Given the description of an element on the screen output the (x, y) to click on. 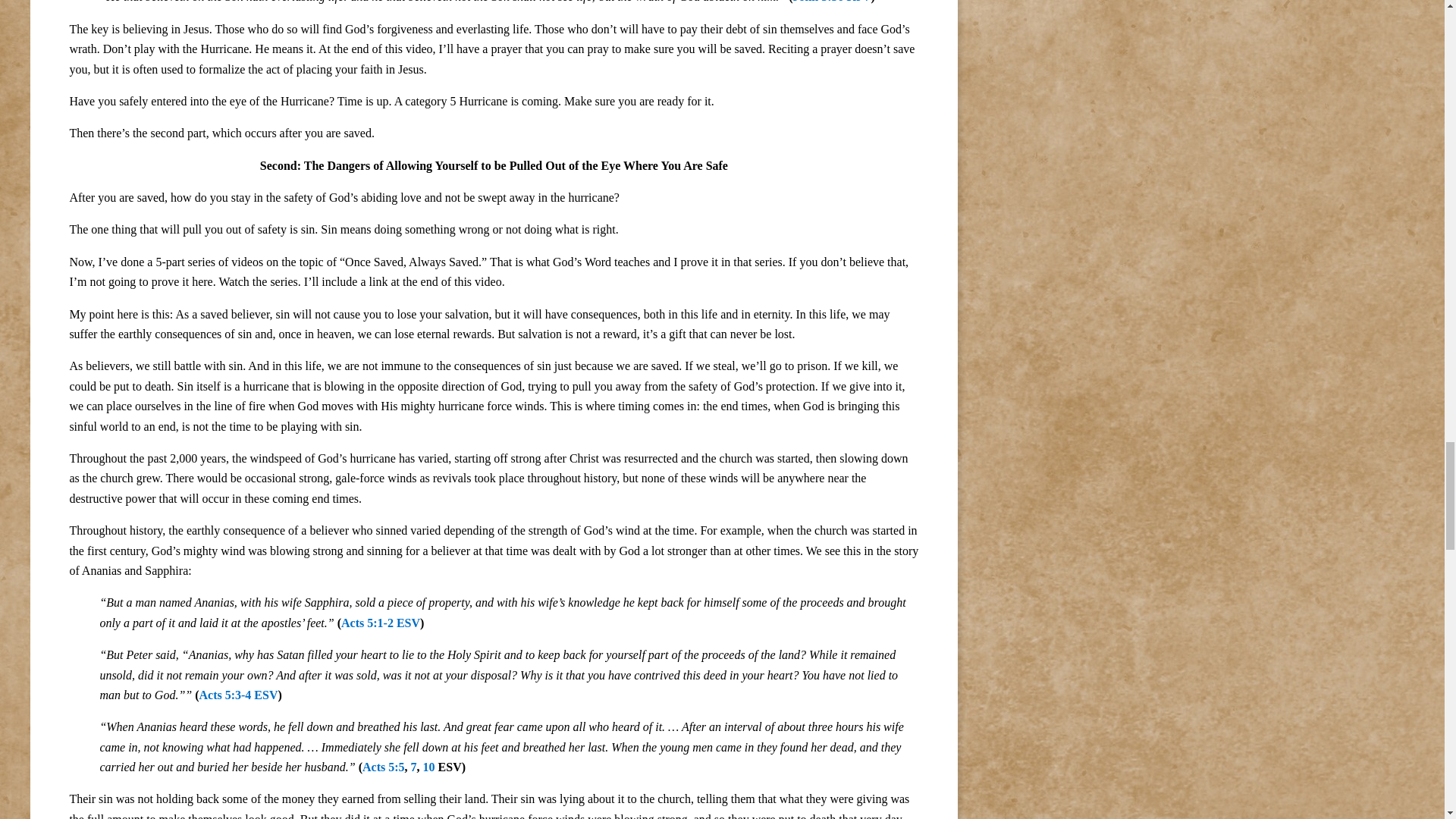
10 (429, 766)
John 3:36 KJV (831, 1)
Acts 5:5 (383, 766)
Acts 5:3-4 ESV (238, 694)
Acts 5:1-2 ESV (380, 622)
